Given the description of an element on the screen output the (x, y) to click on. 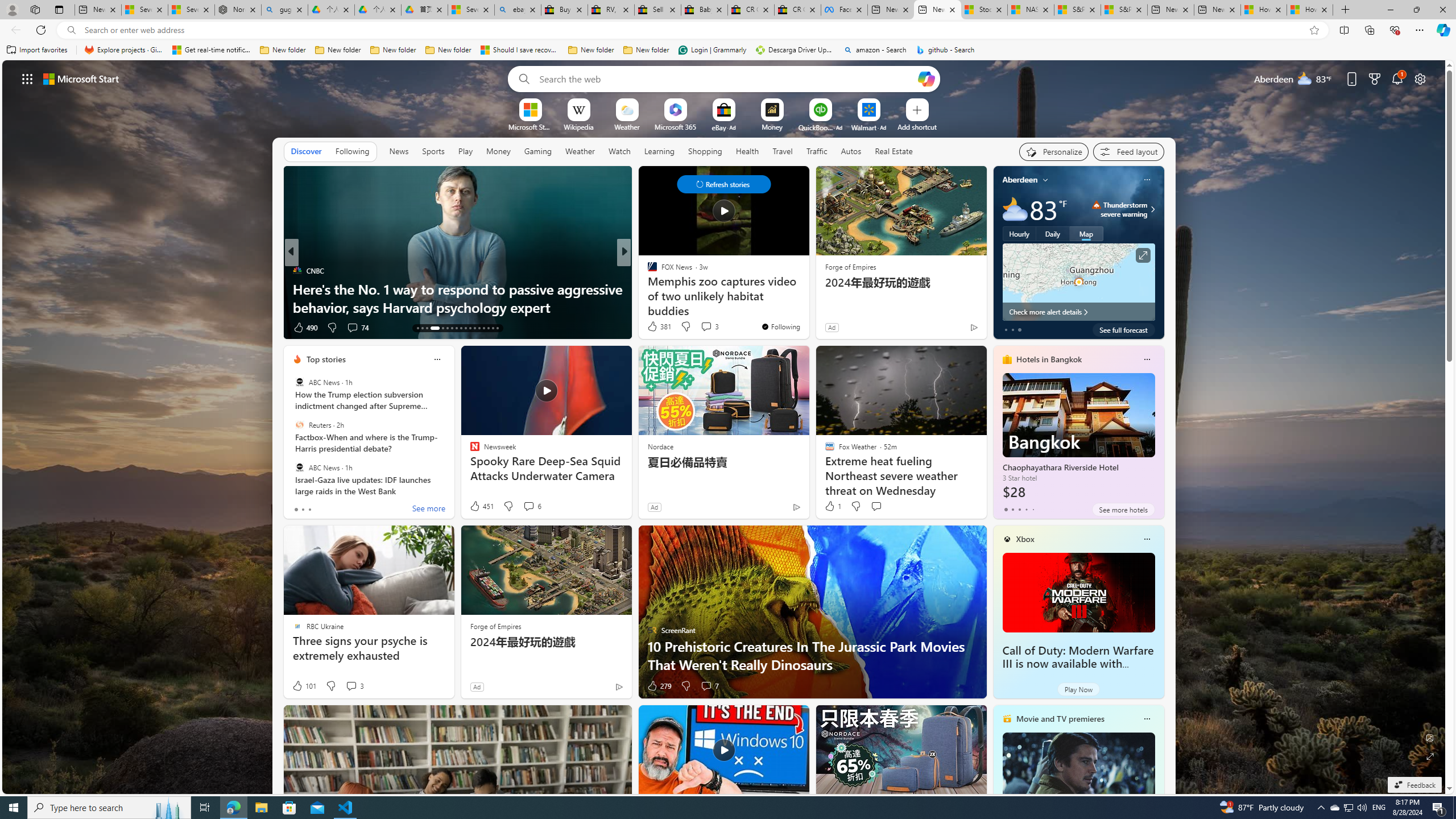
tab-3 (1025, 509)
AutomationID: tab-15 (426, 328)
CNET (647, 288)
AutomationID: tab-16 (431, 328)
Sports (432, 151)
github - Search (945, 49)
Chaophayathara Riverside Hotel (1077, 436)
Edit Background (1430, 737)
Real Estate (893, 151)
The Telegraph (647, 270)
The Manual (647, 270)
My location (1045, 179)
